Given the description of an element on the screen output the (x, y) to click on. 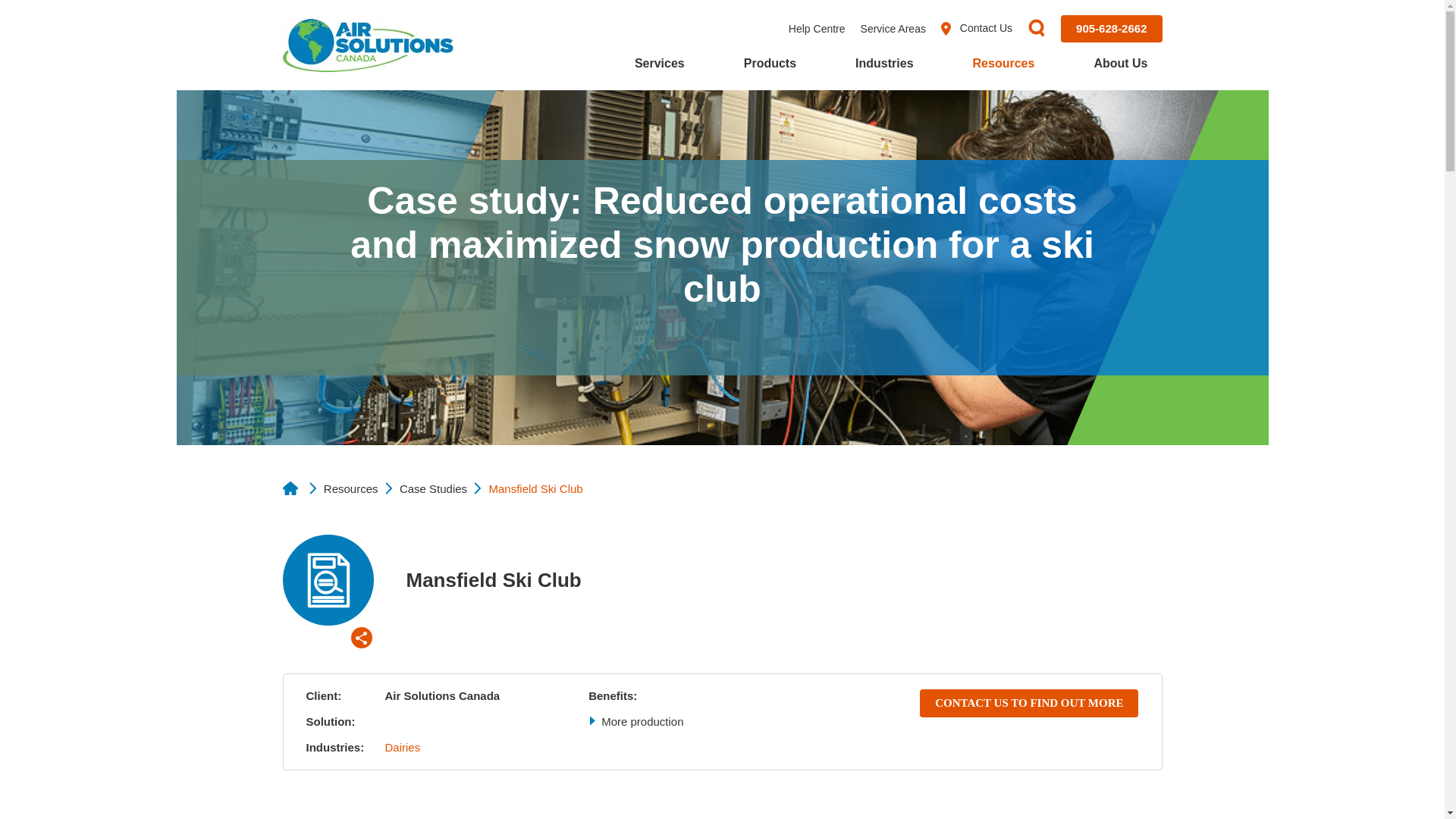
905-628-2662 (1111, 28)
Help Centre (817, 28)
Services (659, 66)
Products (769, 66)
Service Areas (893, 28)
Contact Us (975, 29)
